Given the description of an element on the screen output the (x, y) to click on. 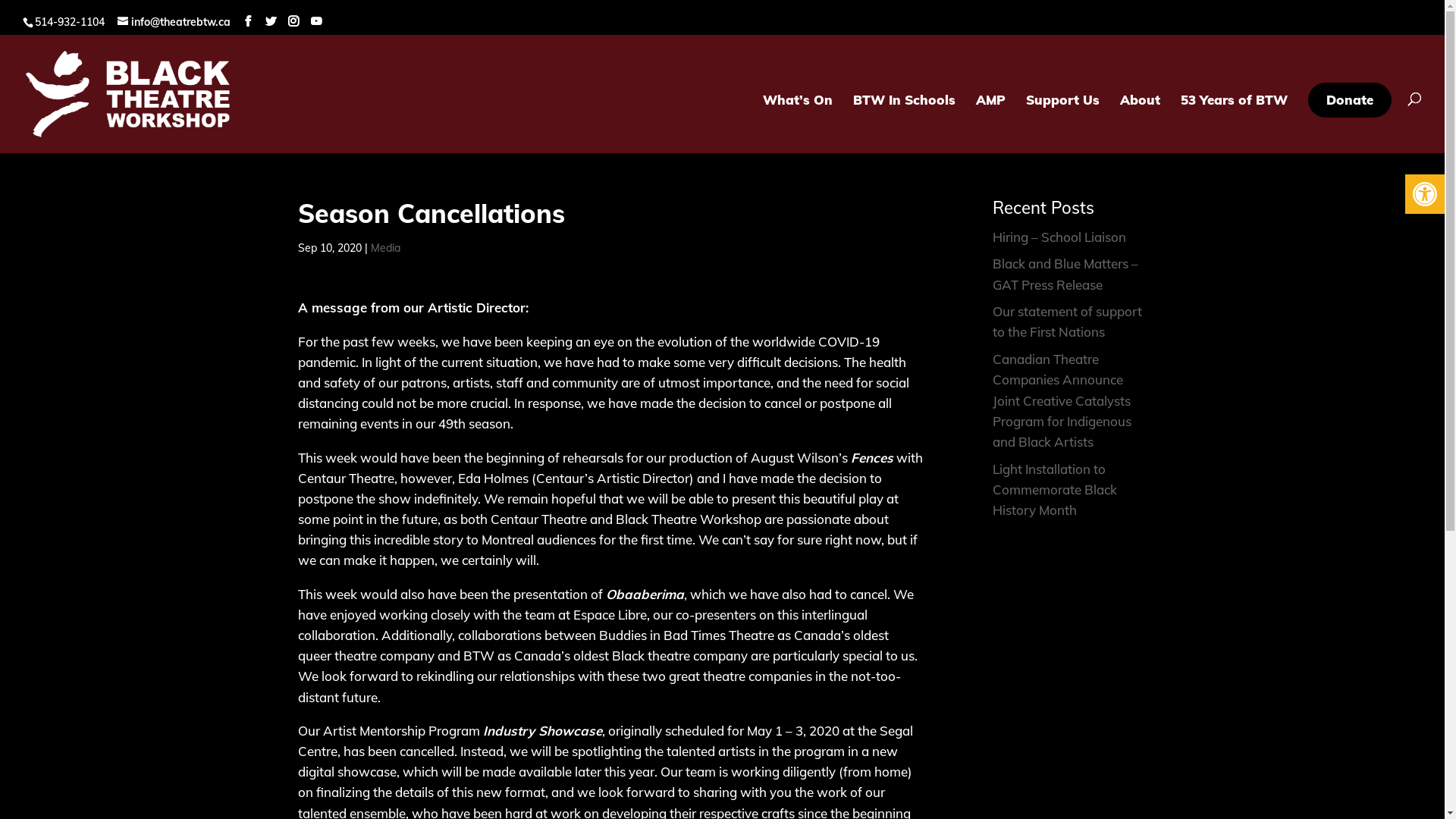
Our statement of support to the First Nations Element type: text (1067, 321)
Media Element type: text (384, 247)
info@theatrebtw.ca Element type: text (173, 21)
53 Years of BTW Element type: text (1233, 123)
Skip to content Element type: text (0, 0)
Donate Element type: text (1349, 99)
BTW In Schools Element type: text (904, 123)
Support Us Element type: text (1062, 123)
About Element type: text (1140, 123)
AMP Element type: text (990, 123)
Light Installation to Commemorate Black History Month Element type: text (1054, 489)
Open toolbar
Accessibility Tools Element type: text (1424, 193)
